Given the description of an element on the screen output the (x, y) to click on. 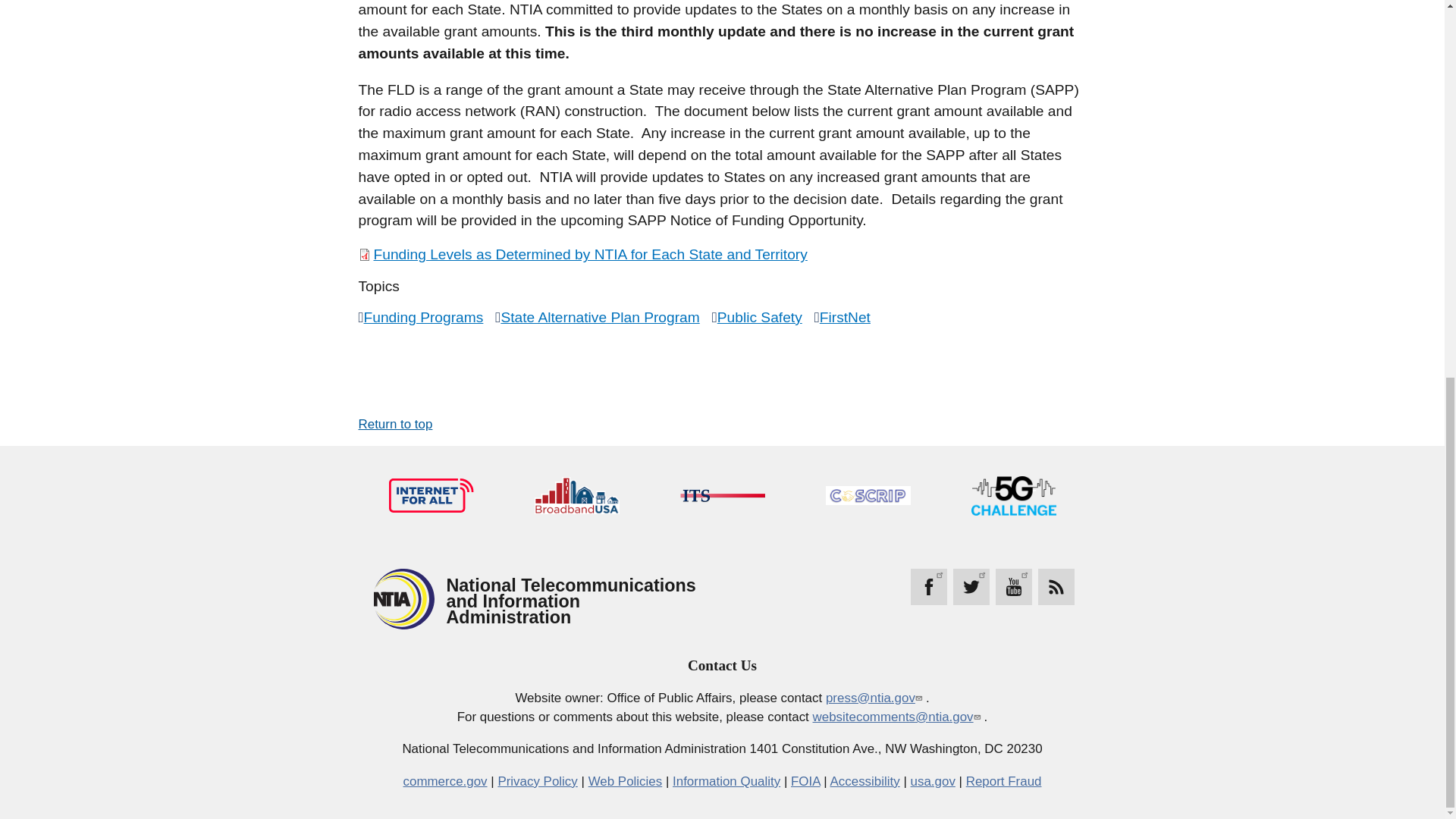
Return to top (395, 423)
Accessibility (864, 780)
State Alternative Plan Program (599, 317)
Public Safety (759, 317)
Privacy Policy (536, 780)
Funding Programs (423, 317)
commerce.gov (445, 780)
Report Fraud (1004, 780)
Information Quality (726, 780)
